Given the description of an element on the screen output the (x, y) to click on. 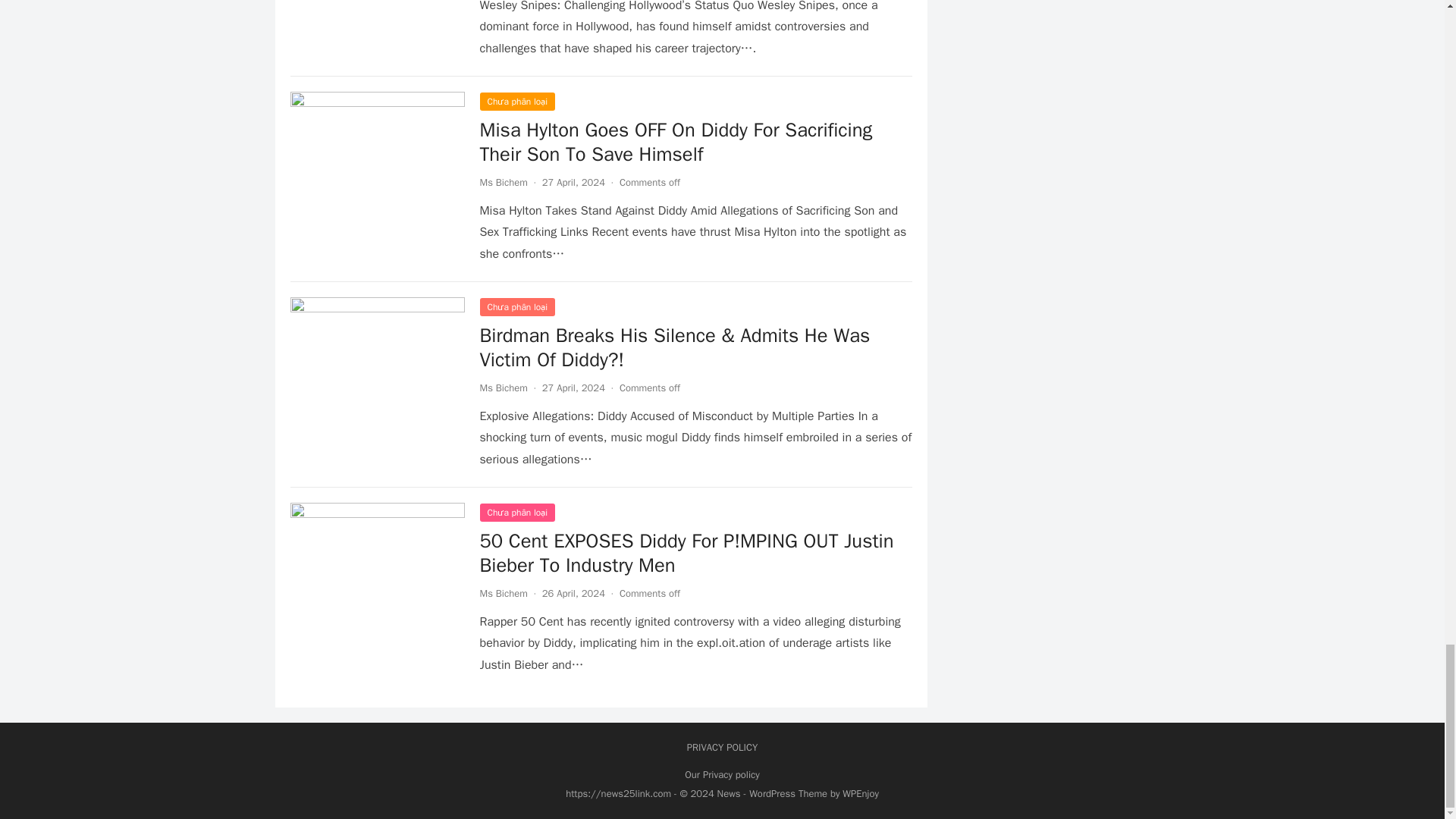
Posts by Ms Bichem (503, 387)
Posts by Ms Bichem (503, 182)
Posts by Ms Bichem (503, 593)
